Given the description of an element on the screen output the (x, y) to click on. 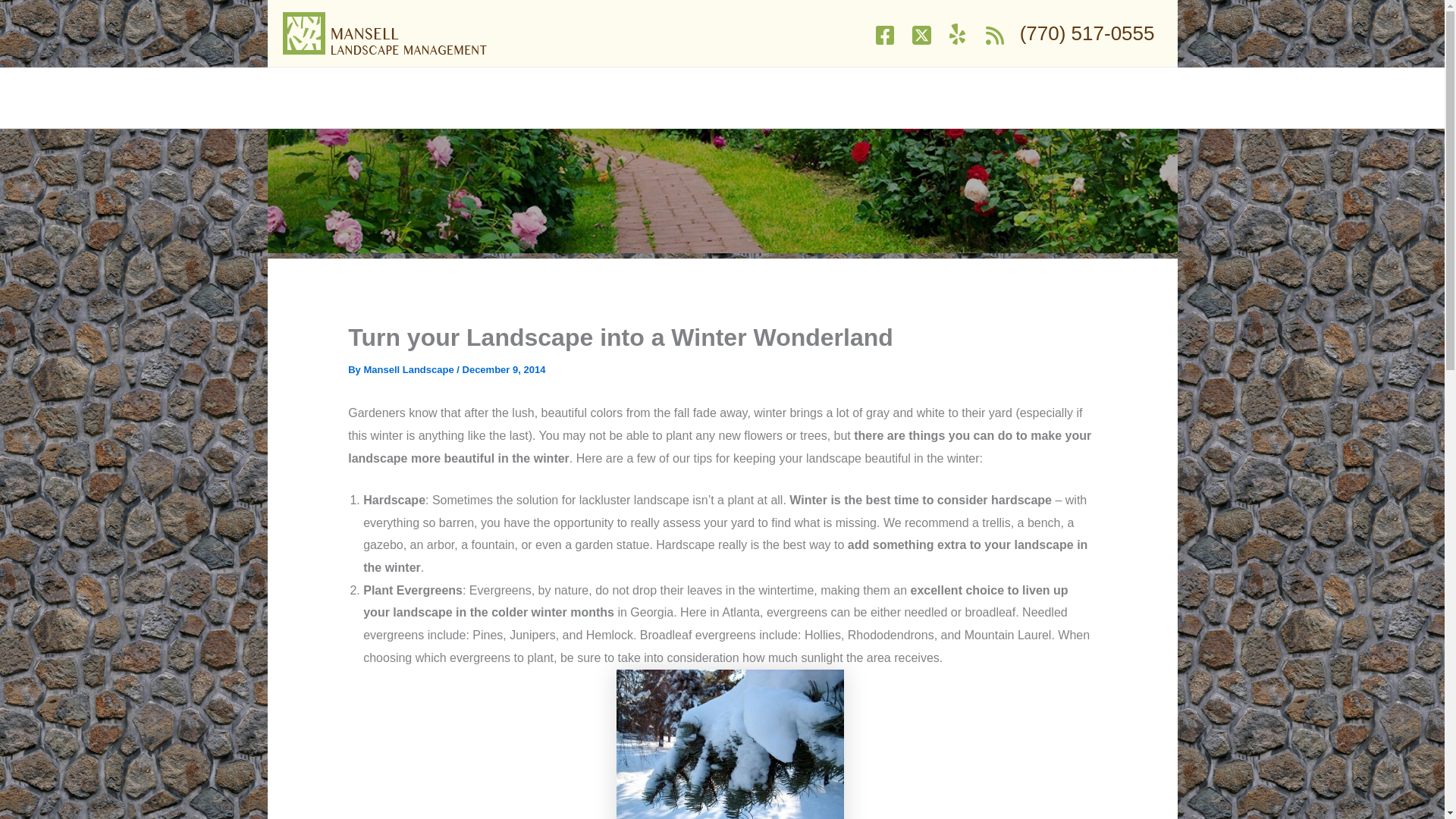
About (1083, 97)
Blog (982, 97)
Home (843, 97)
FAQ (1031, 97)
Services (915, 97)
Contact (1143, 97)
View all posts by Mansell Landscape (409, 369)
